Given the description of an element on the screen output the (x, y) to click on. 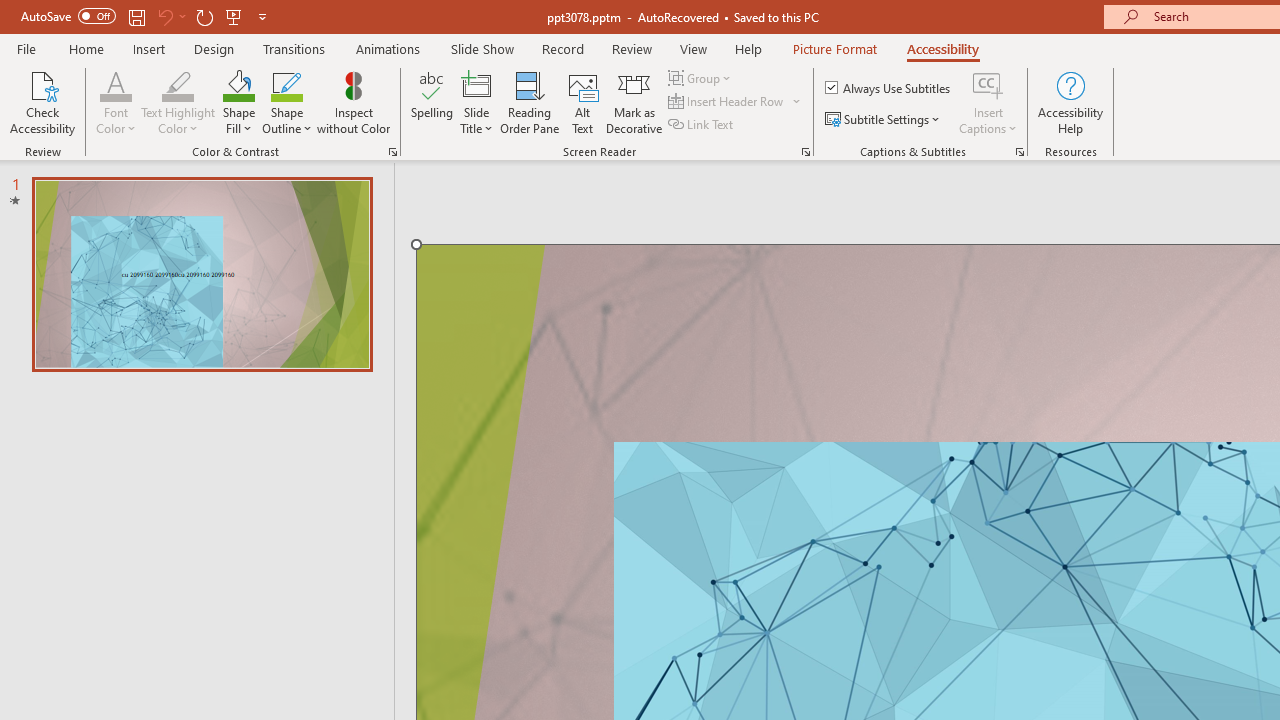
Link Text (702, 124)
Subtitle Settings (884, 119)
